Given the description of an element on the screen output the (x, y) to click on. 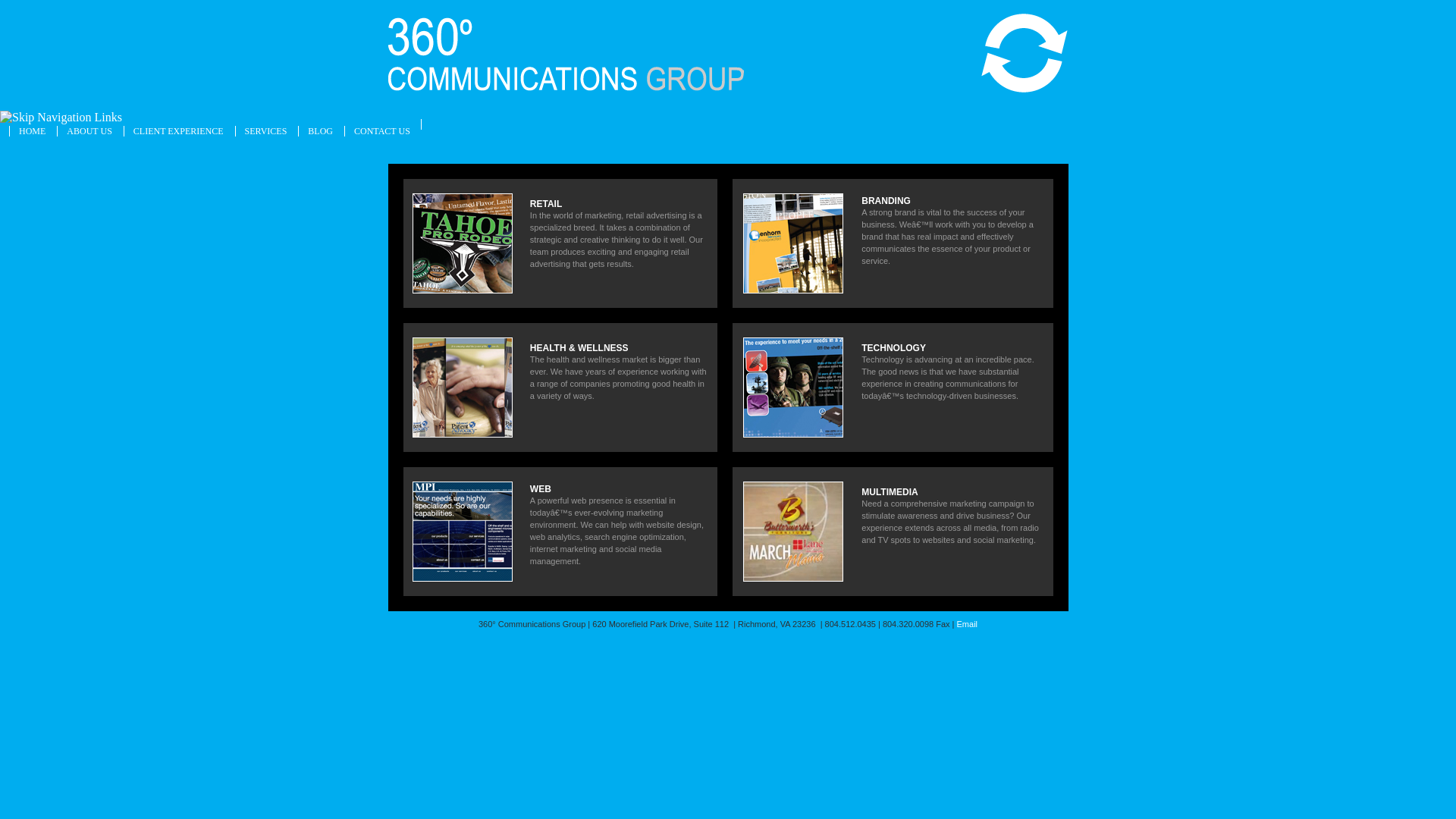
TECHNOLOGY Element type: text (893, 347)
BRANDING Element type: text (885, 200)
CONTACT US Element type: text (382, 130)
SERVICES Element type: text (265, 130)
RETAIL Element type: text (545, 203)
WEB Element type: text (540, 488)
HOME Element type: text (31, 130)
BLOG Element type: text (319, 130)
CLIENT EXPERIENCE Element type: text (178, 130)
MULTIMEDIA Element type: text (889, 491)
Email Element type: text (967, 623)
HEALTH & WELLNESS Element type: text (579, 347)
ABOUT US Element type: text (88, 130)
